Given the description of an element on the screen output the (x, y) to click on. 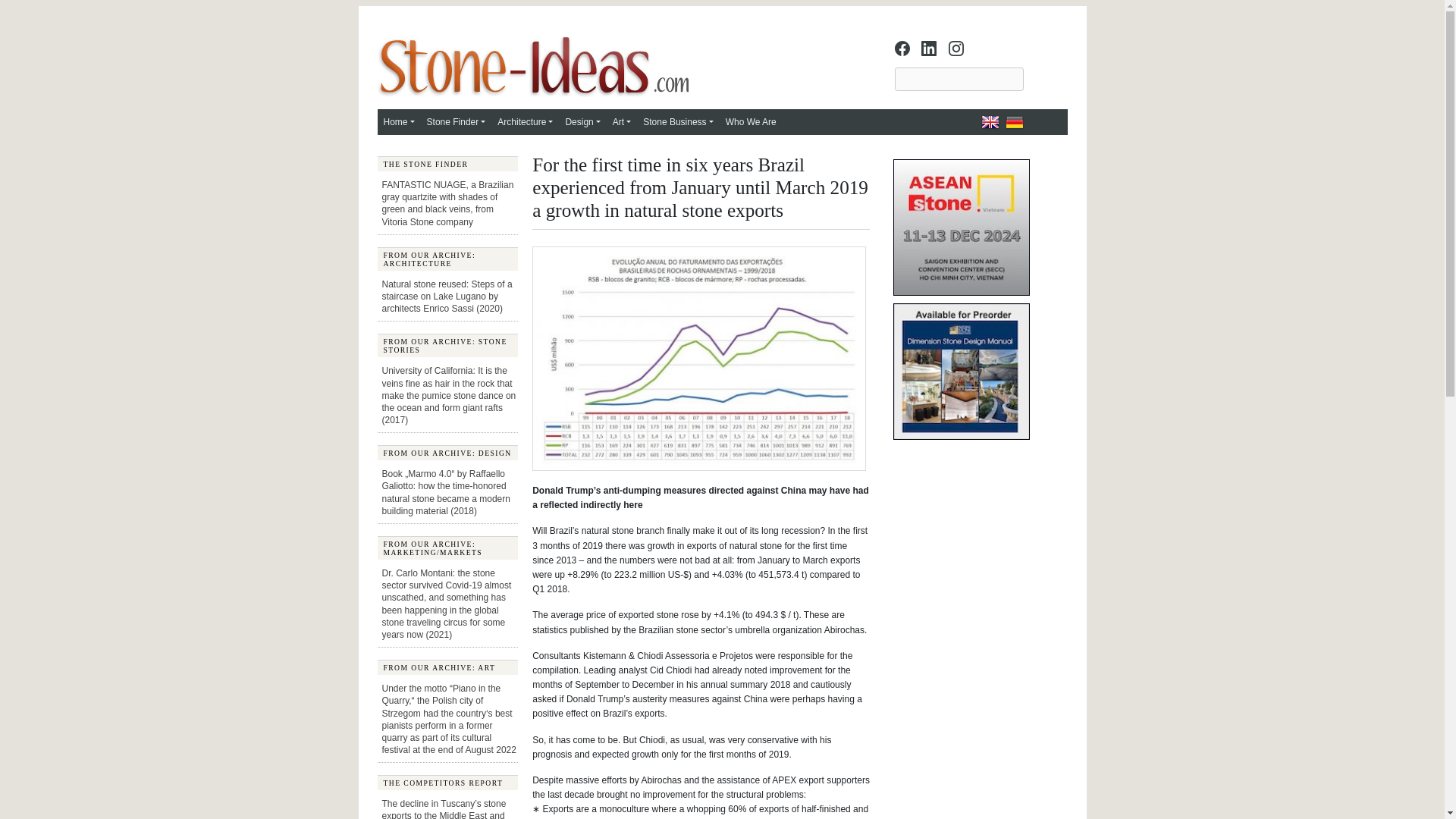
Stone Finder (456, 121)
Art (622, 121)
Who We Are (751, 121)
Design (582, 121)
Home (398, 121)
Stone Finder (456, 121)
Design (582, 121)
Architecture (525, 121)
Art (622, 121)
Home (398, 121)
